Given the description of an element on the screen output the (x, y) to click on. 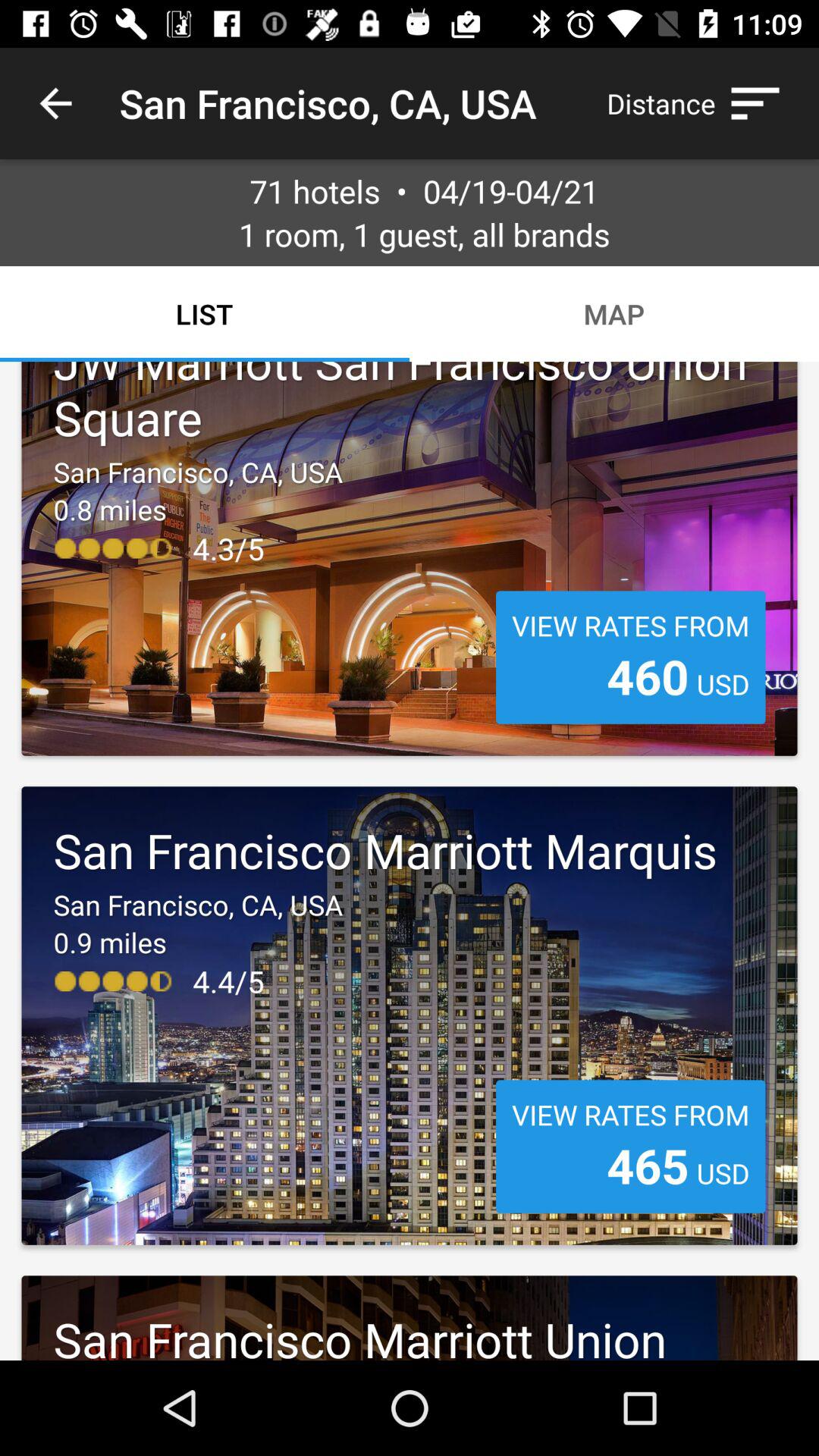
turn off item above 71 hotels 04 (55, 103)
